Given the description of an element on the screen output the (x, y) to click on. 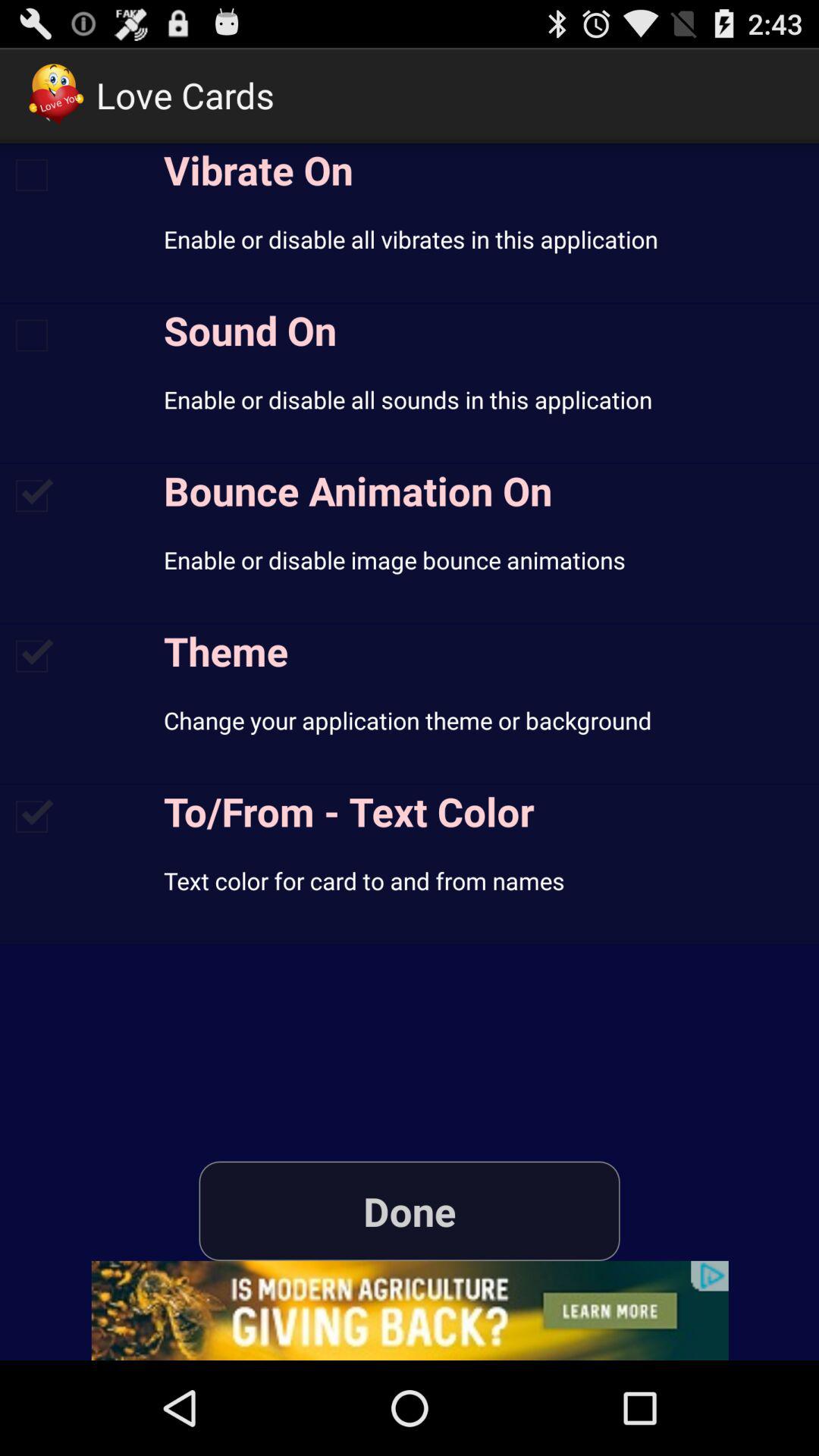
advertisement page (409, 1310)
